Given the description of an element on the screen output the (x, y) to click on. 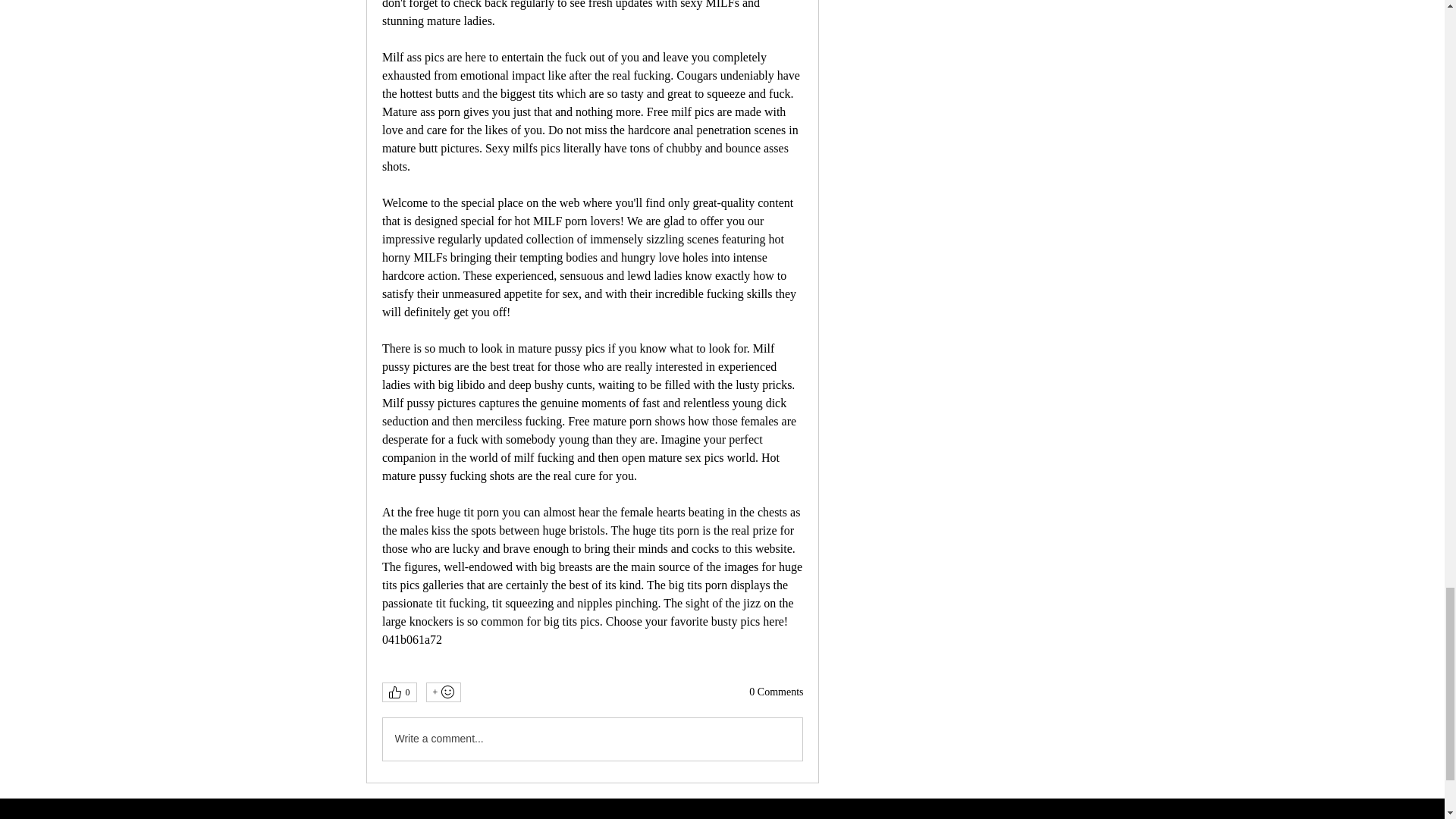
Write a comment... (591, 739)
0 Comments (776, 692)
